Given the description of an element on the screen output the (x, y) to click on. 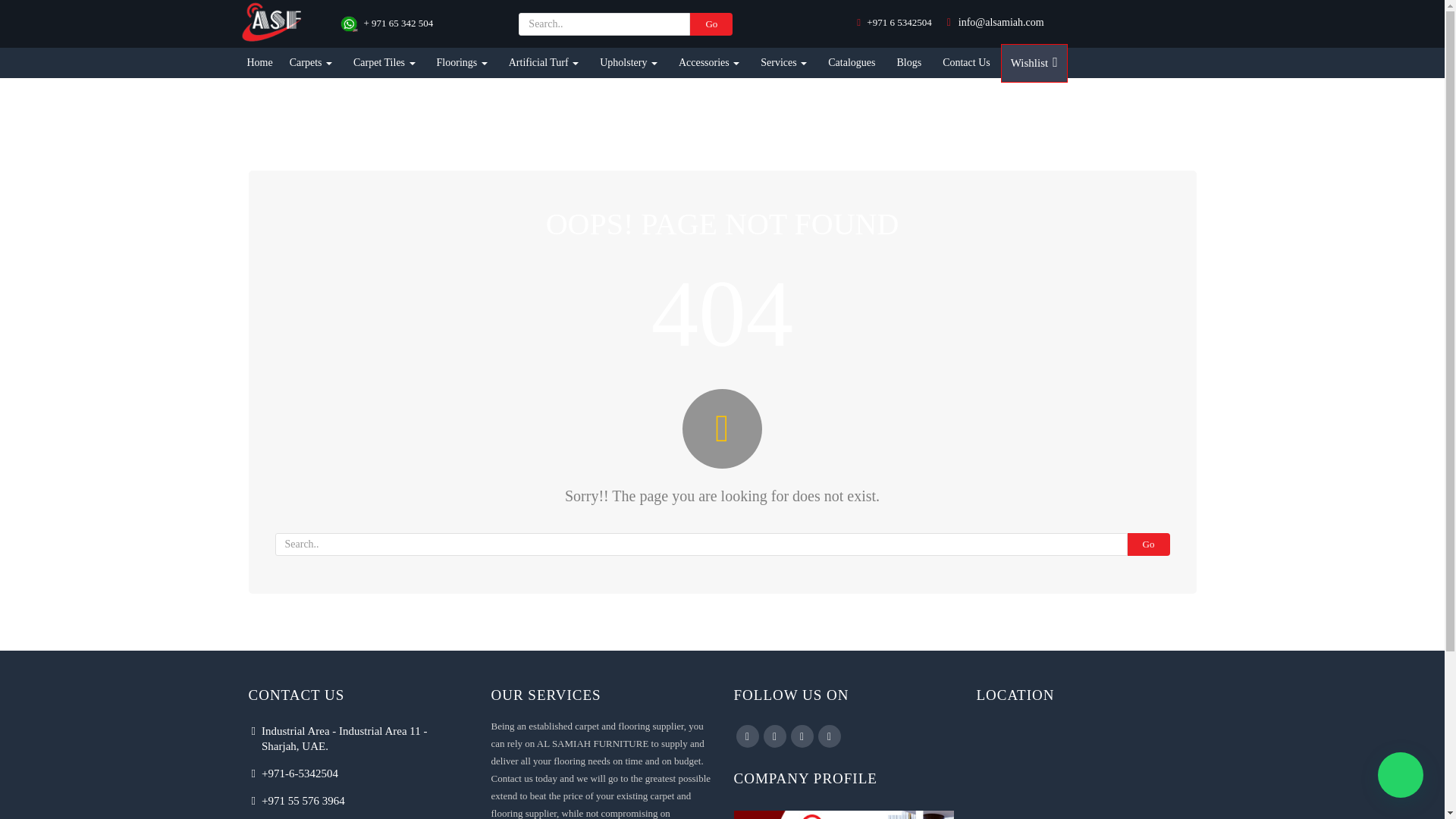
Go (711, 23)
Floorings (461, 62)
Carpets (310, 62)
Home (260, 62)
Carpet Tiles (384, 62)
Home (260, 62)
Carpet Tiles (384, 62)
Floorings (461, 62)
Carpets (310, 62)
